Given the description of an element on the screen output the (x, y) to click on. 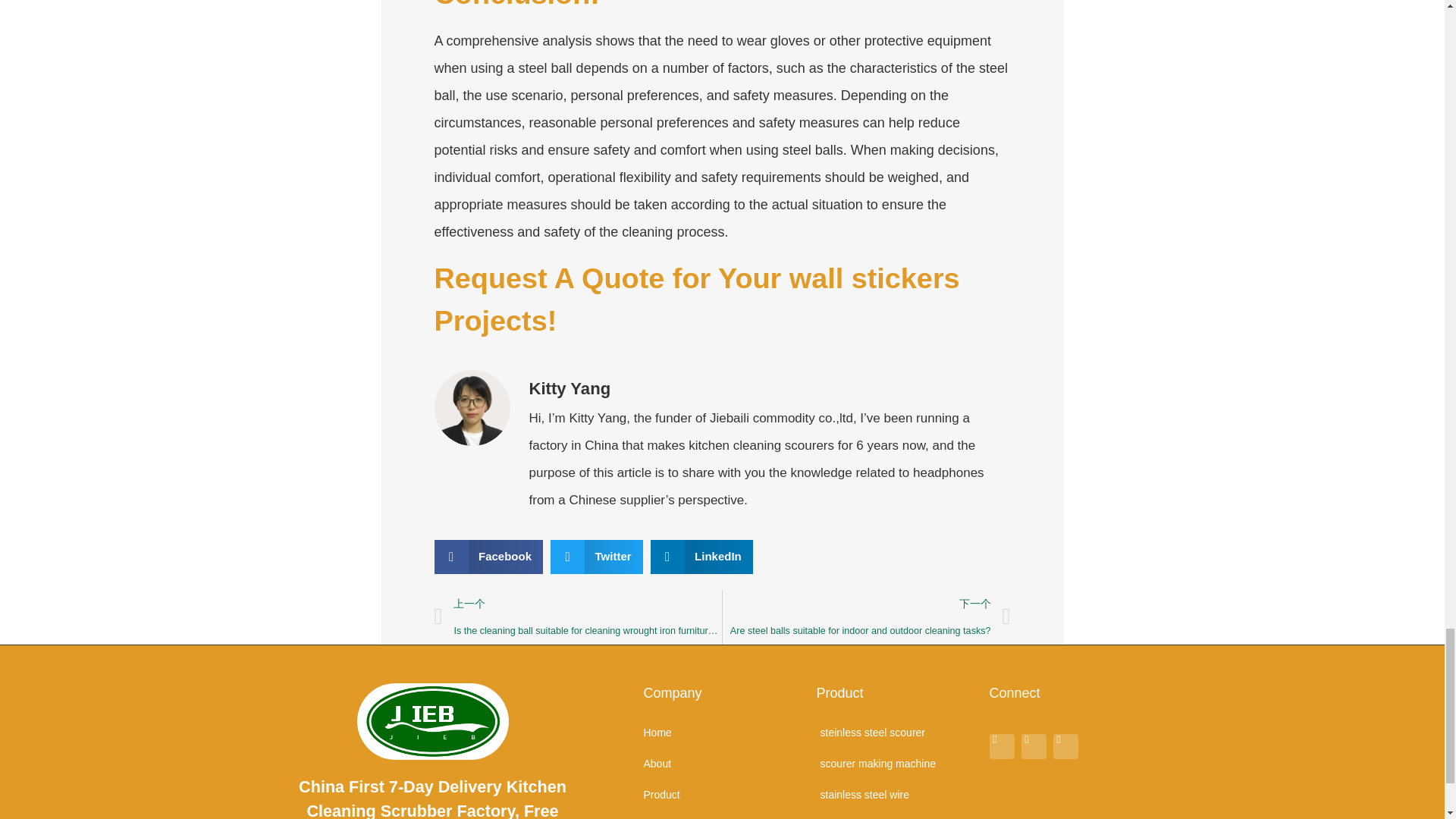
green scourer pad (894, 815)
Product (721, 794)
scourer making machine (894, 763)
steinless steel scourer (894, 732)
Blog (721, 815)
About (721, 763)
stainless steel wire (894, 794)
Home (721, 732)
